Given the description of an element on the screen output the (x, y) to click on. 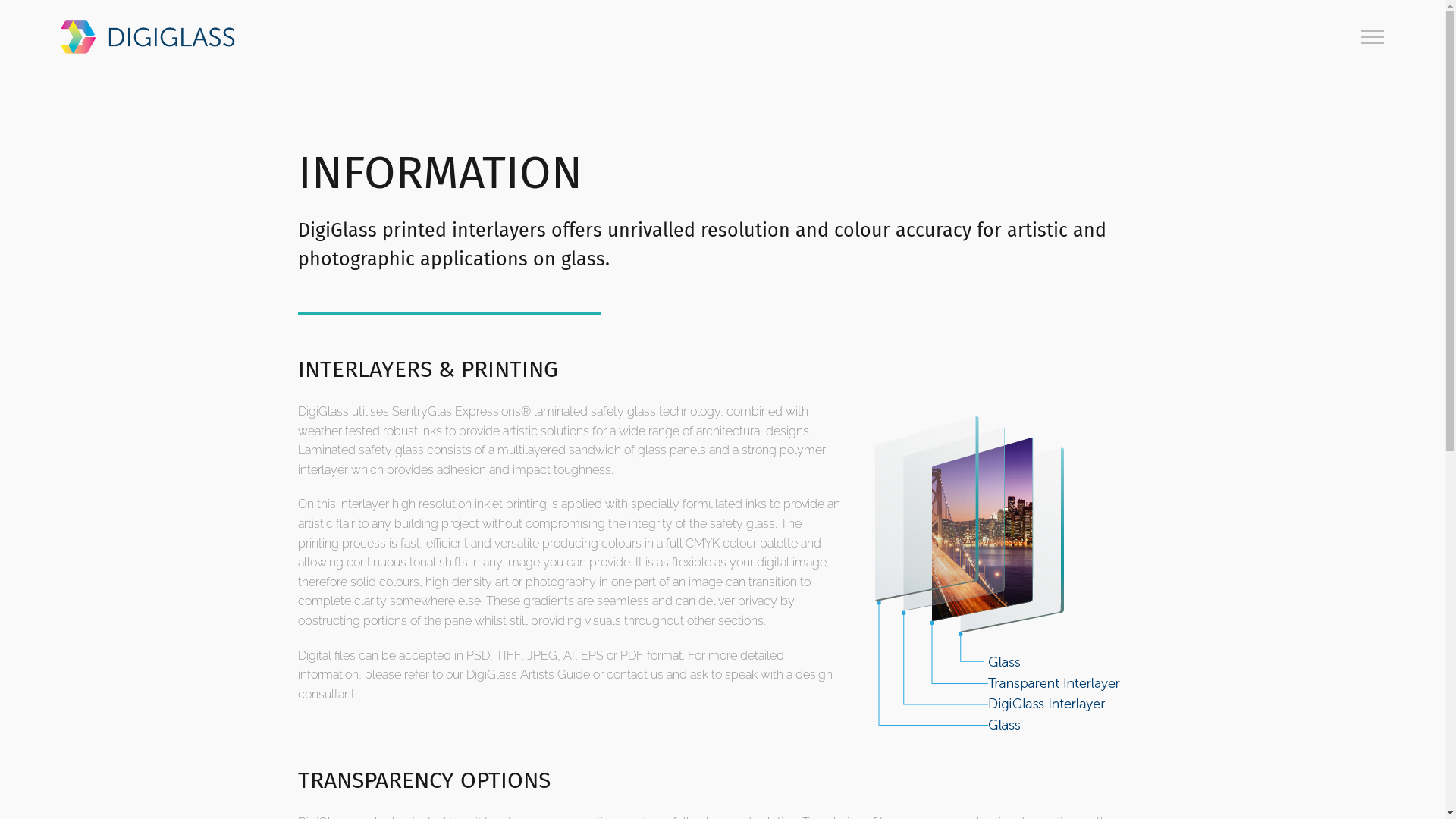
DigiGlass Makeup Diagram Element type: hover (1006, 573)
